Given the description of an element on the screen output the (x, y) to click on. 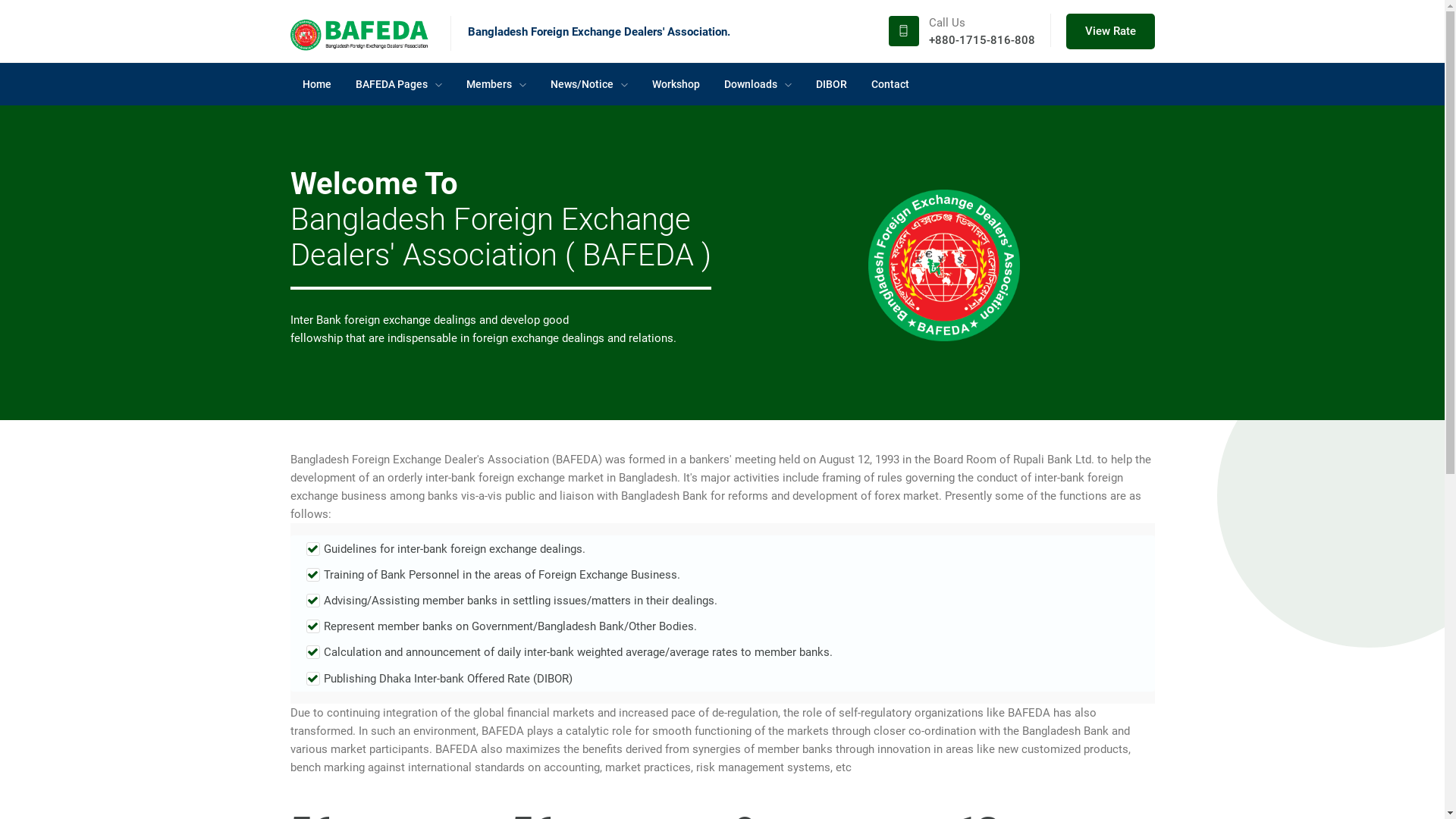
View Rate Element type: text (1110, 31)
Downloads Element type: text (757, 83)
News/Notice Element type: text (589, 83)
Home Element type: text (315, 83)
Workshop Element type: text (676, 83)
Members Element type: text (495, 83)
Contact Element type: text (889, 83)
DIBOR Element type: text (831, 83)
BAFEDA Pages Element type: text (397, 83)
